Given the description of an element on the screen output the (x, y) to click on. 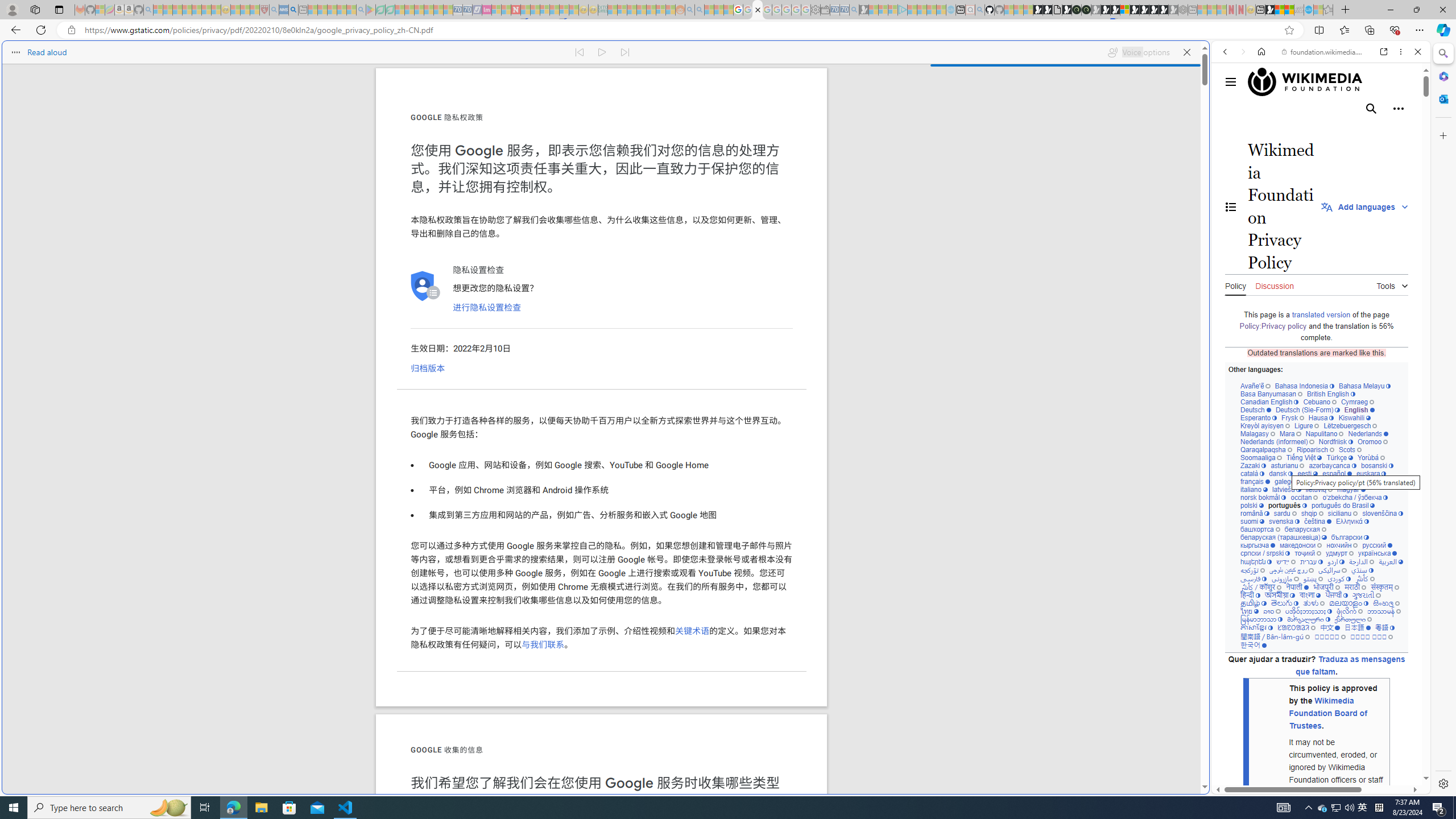
Bing Real Estate - Home sales and rental listings - Sleeping (853, 9)
list of asthma inhalers uk - Search - Sleeping (273, 9)
Deutsch (1255, 409)
sardu (1285, 513)
14 Common Myths Debunked By Scientific Facts - Sleeping (534, 9)
Ripoarisch (1314, 449)
Cymraeg (1357, 401)
Class: b_serphb (1404, 130)
